Given the description of an element on the screen output the (x, y) to click on. 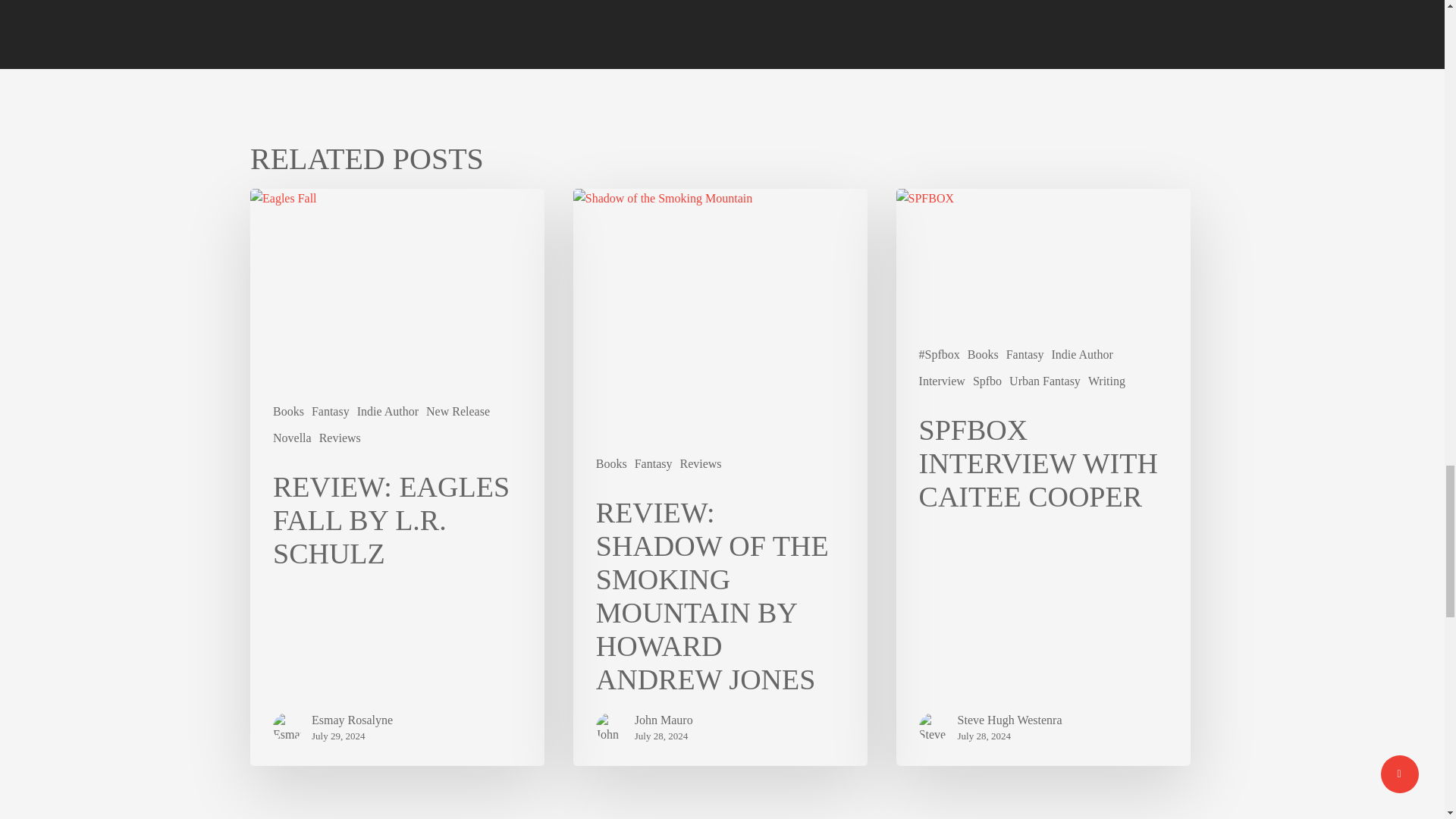
Esmay Rosalyne (352, 720)
Indie Author (387, 411)
Novella (292, 438)
Reviews (339, 438)
Reviews (699, 464)
New Release (457, 411)
Fantasy (653, 464)
Books (288, 411)
Fantasy (330, 411)
Books (611, 464)
